Given the description of an element on the screen output the (x, y) to click on. 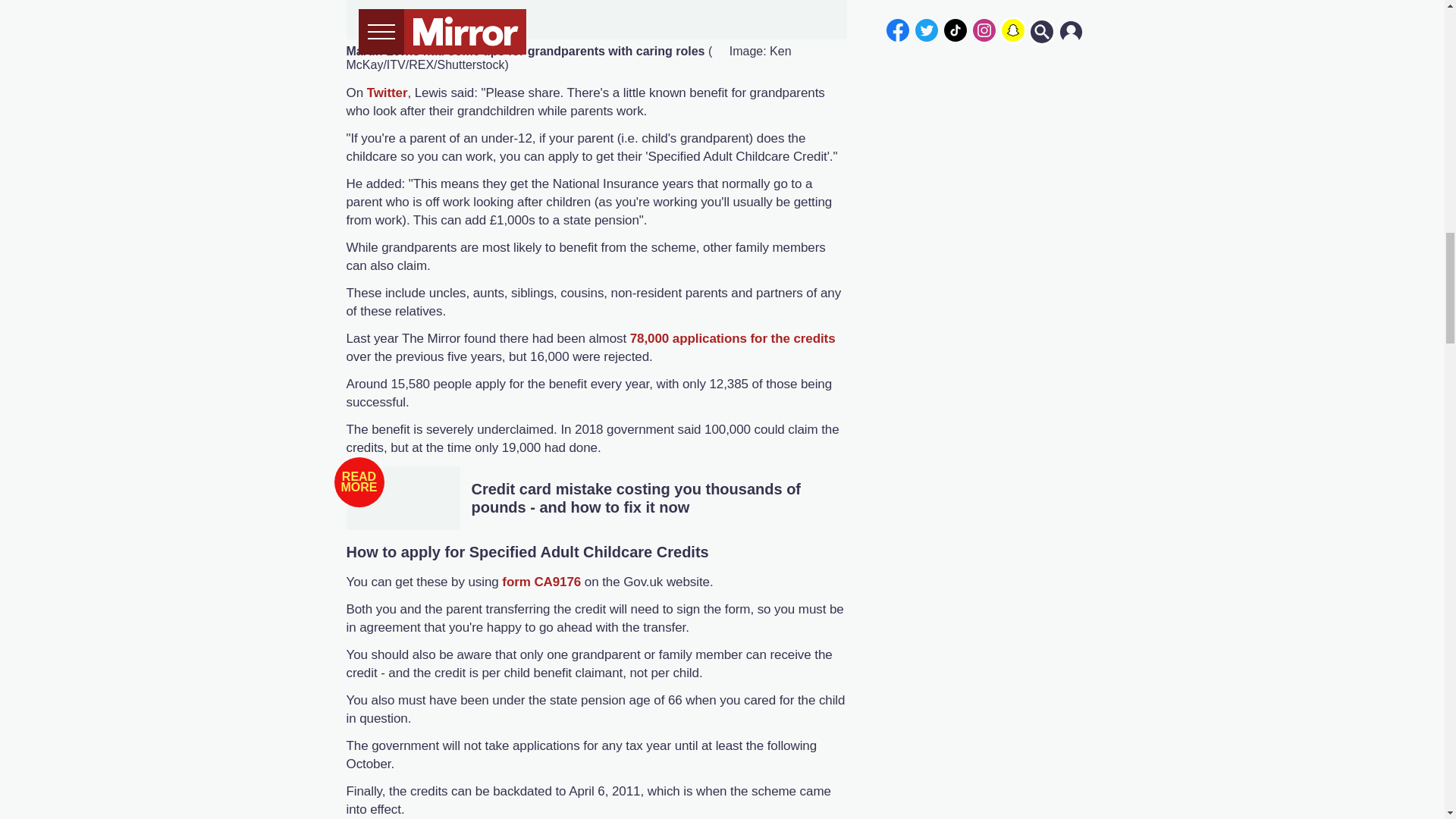
Twitter (386, 92)
form CA9176 (541, 581)
78,000 applications for the credits (732, 338)
